Given the description of an element on the screen output the (x, y) to click on. 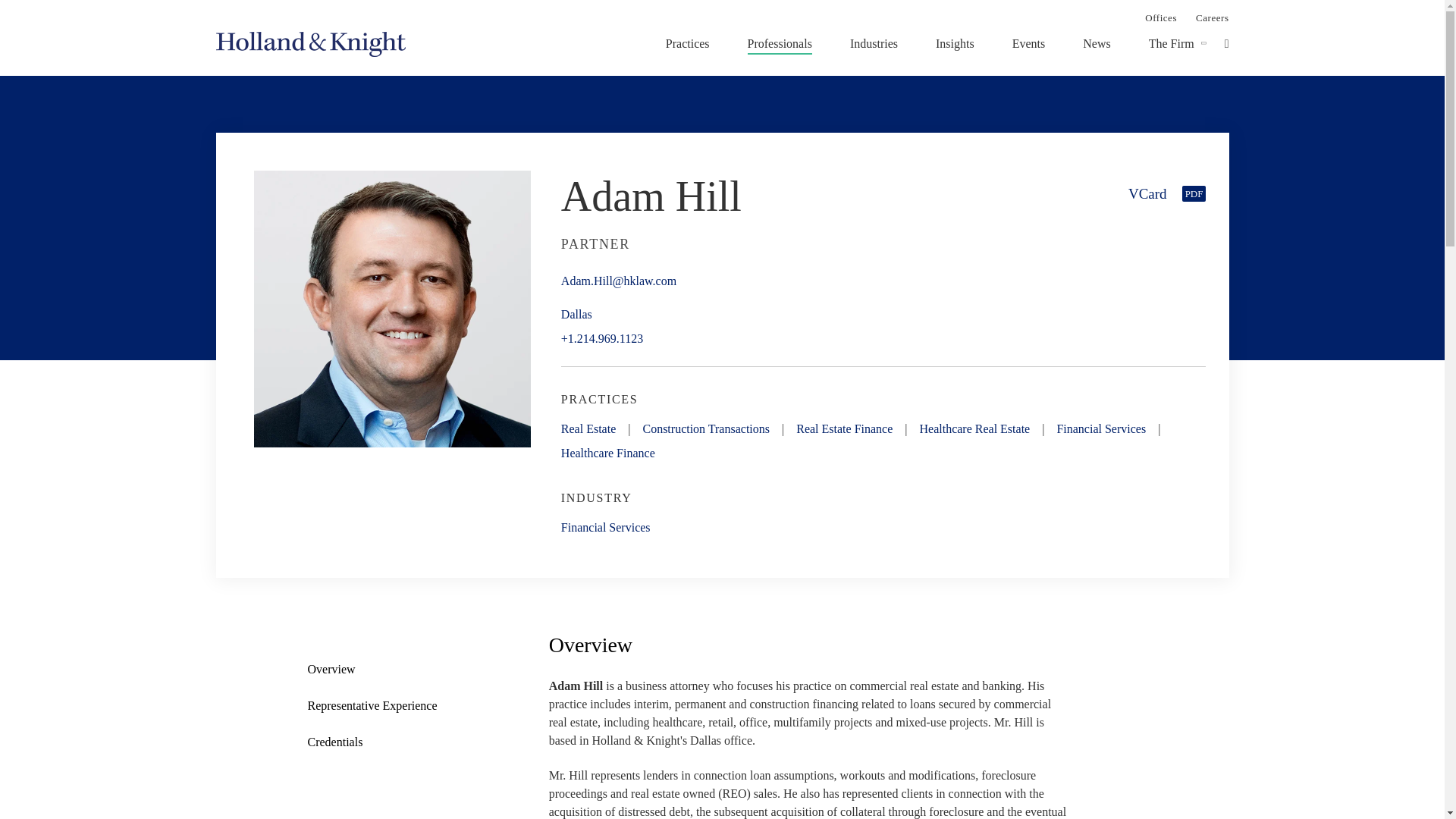
Practices (687, 42)
Offices (1160, 16)
Careers (1211, 16)
Events (1028, 42)
Representative Experience (383, 705)
Professionals (780, 42)
Overview (383, 669)
Real Estate (587, 428)
Insights (955, 42)
Credentials (383, 742)
